Given the description of an element on the screen output the (x, y) to click on. 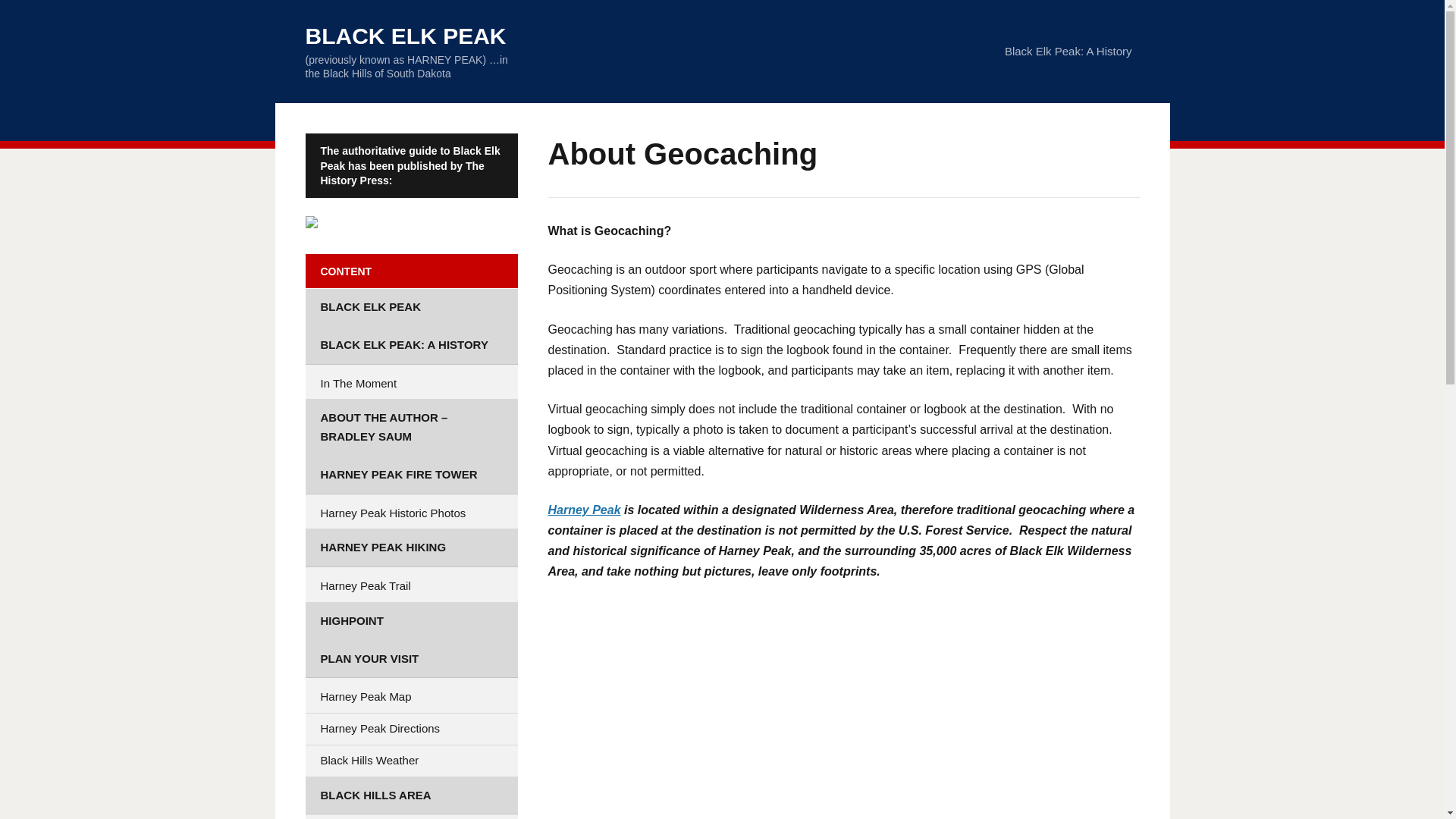
Harney Peak Historic Photos (410, 513)
BLACK ELK PEAK (404, 35)
Harney Peak Trail (410, 585)
BLACK ELK PEAK (410, 307)
Harney Peak (583, 509)
HARNEY PEAK HIKING (410, 548)
Black Hills Weather (410, 760)
BLACK HILLS AREA (410, 795)
HIGHPOINT (410, 620)
In The Moment (410, 383)
Harney Peak Map (410, 696)
Harney Peak (583, 509)
HARNEY PEAK FIRE TOWER (410, 475)
Harney Peak Directions (410, 728)
